Given the description of an element on the screen output the (x, y) to click on. 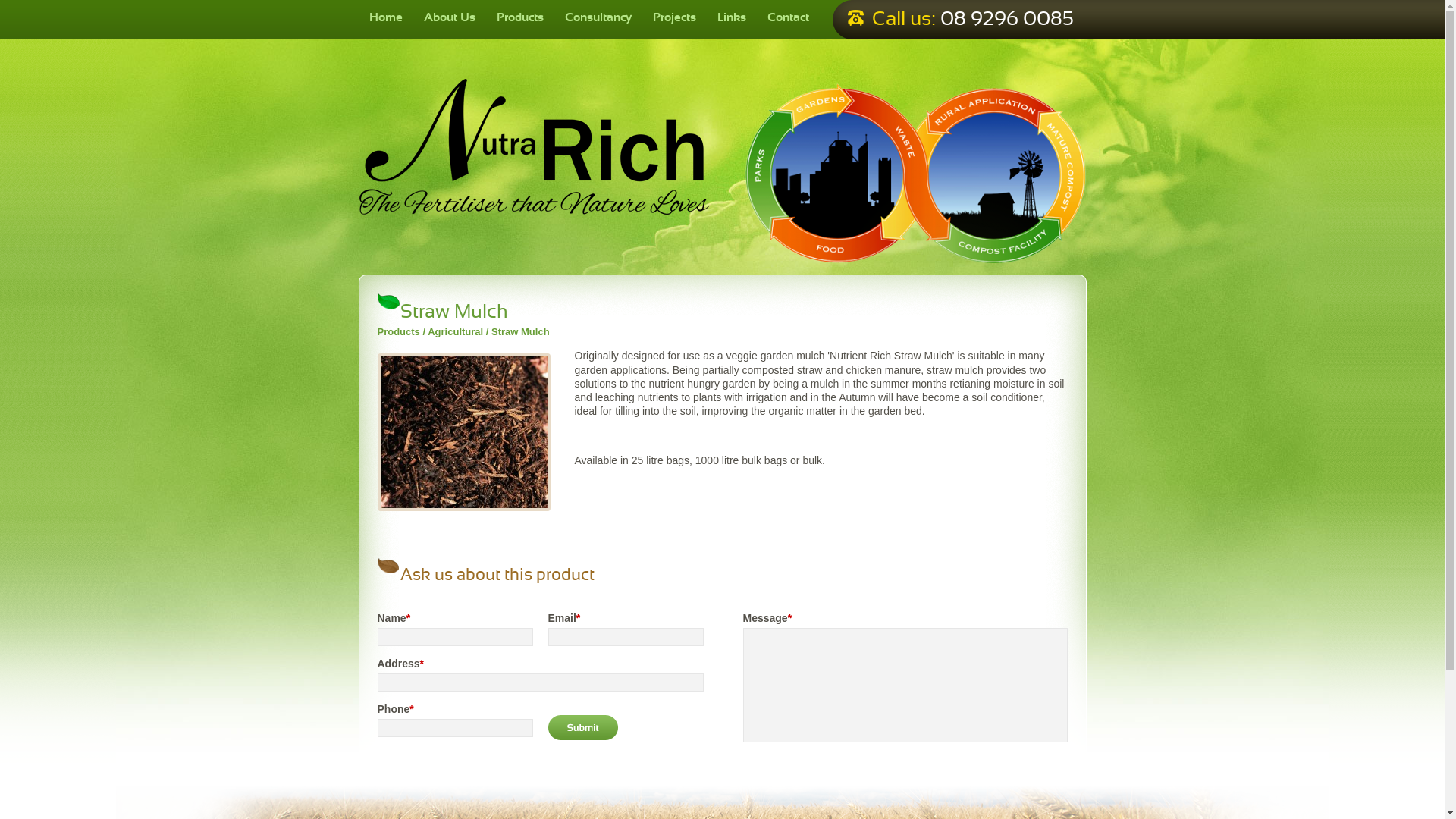
Consultancy Element type: text (597, 19)
Straw Mulch Element type: hover (463, 432)
Agricultural Element type: text (455, 331)
Straw Mulch Element type: hover (460, 432)
Products Element type: text (398, 331)
Links Element type: text (731, 19)
Products Element type: text (519, 19)
Contact Element type: text (787, 19)
Submit Element type: text (582, 727)
Projects Element type: text (673, 19)
About Us Element type: text (448, 19)
Home Element type: text (384, 19)
